Given the description of an element on the screen output the (x, y) to click on. 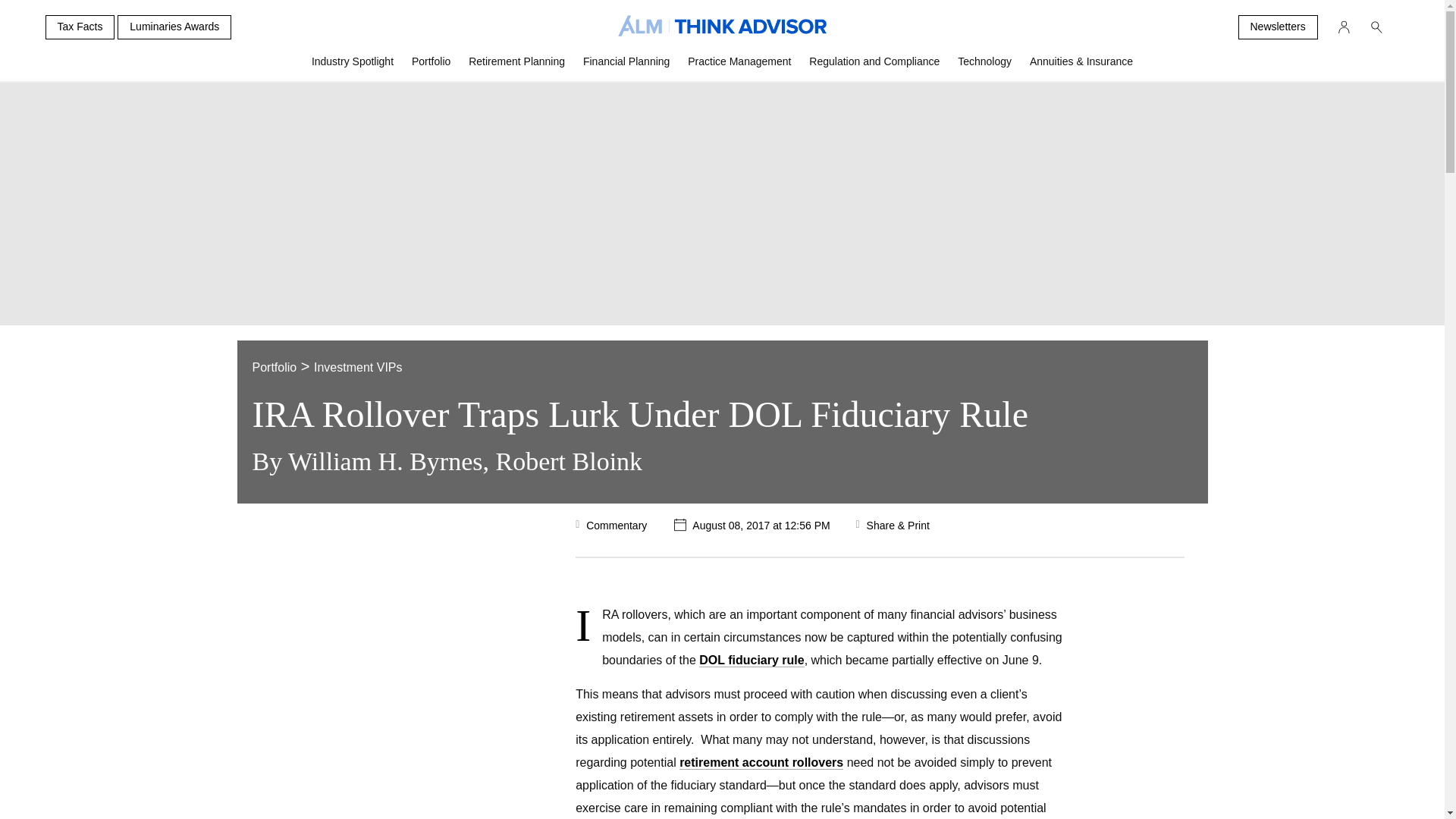
Tax Facts (80, 27)
Newsletters (1277, 27)
Industry Spotlight (352, 67)
Luminaries Awards (174, 27)
